Given the description of an element on the screen output the (x, y) to click on. 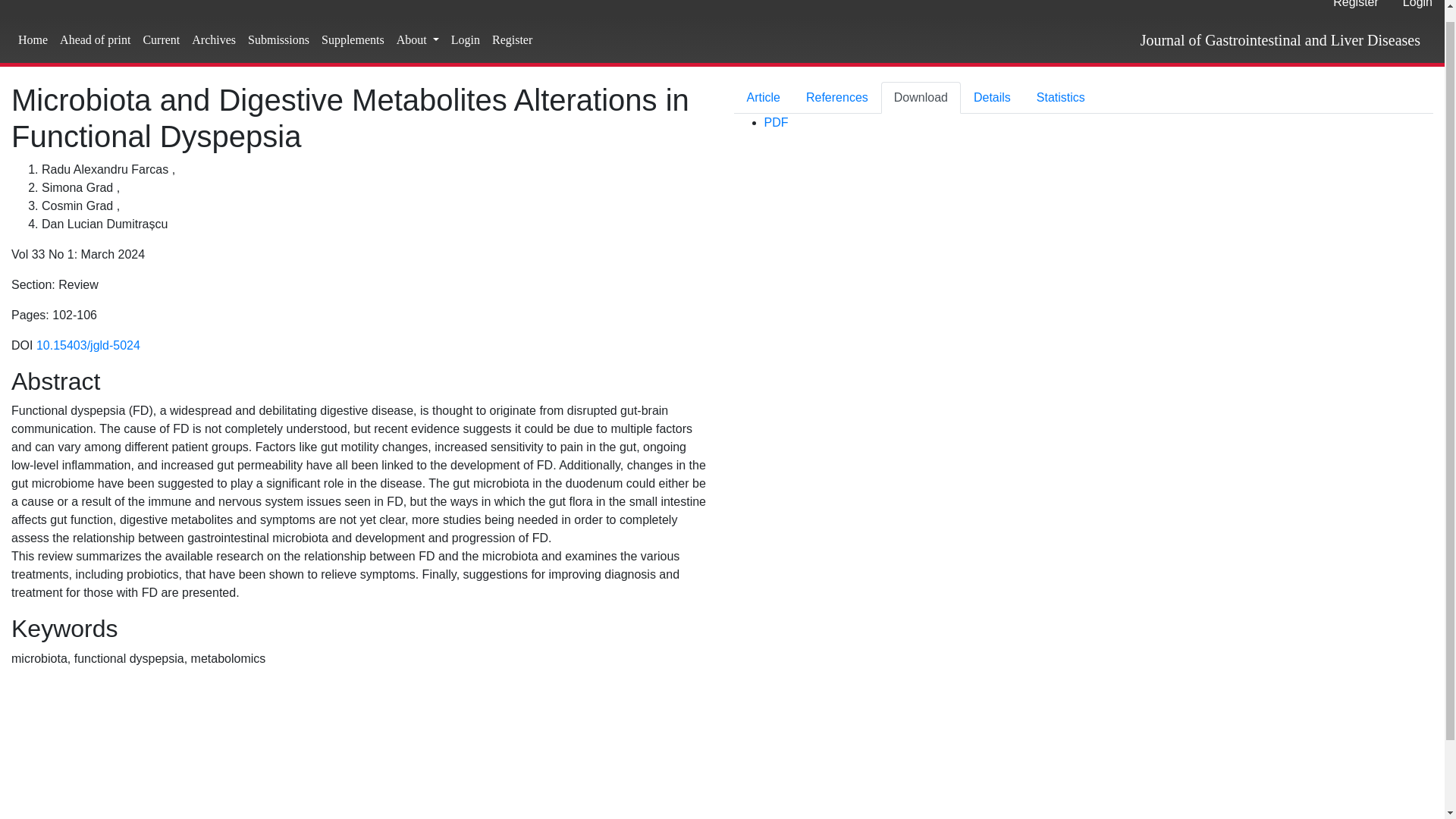
Ahead of print (94, 40)
Supplements (352, 40)
Register (512, 40)
Journal of Gastrointestinal and Liver Diseases (1280, 40)
Register (1355, 8)
Home (32, 40)
Login (465, 40)
About (417, 40)
Current (161, 40)
